Given the description of an element on the screen output the (x, y) to click on. 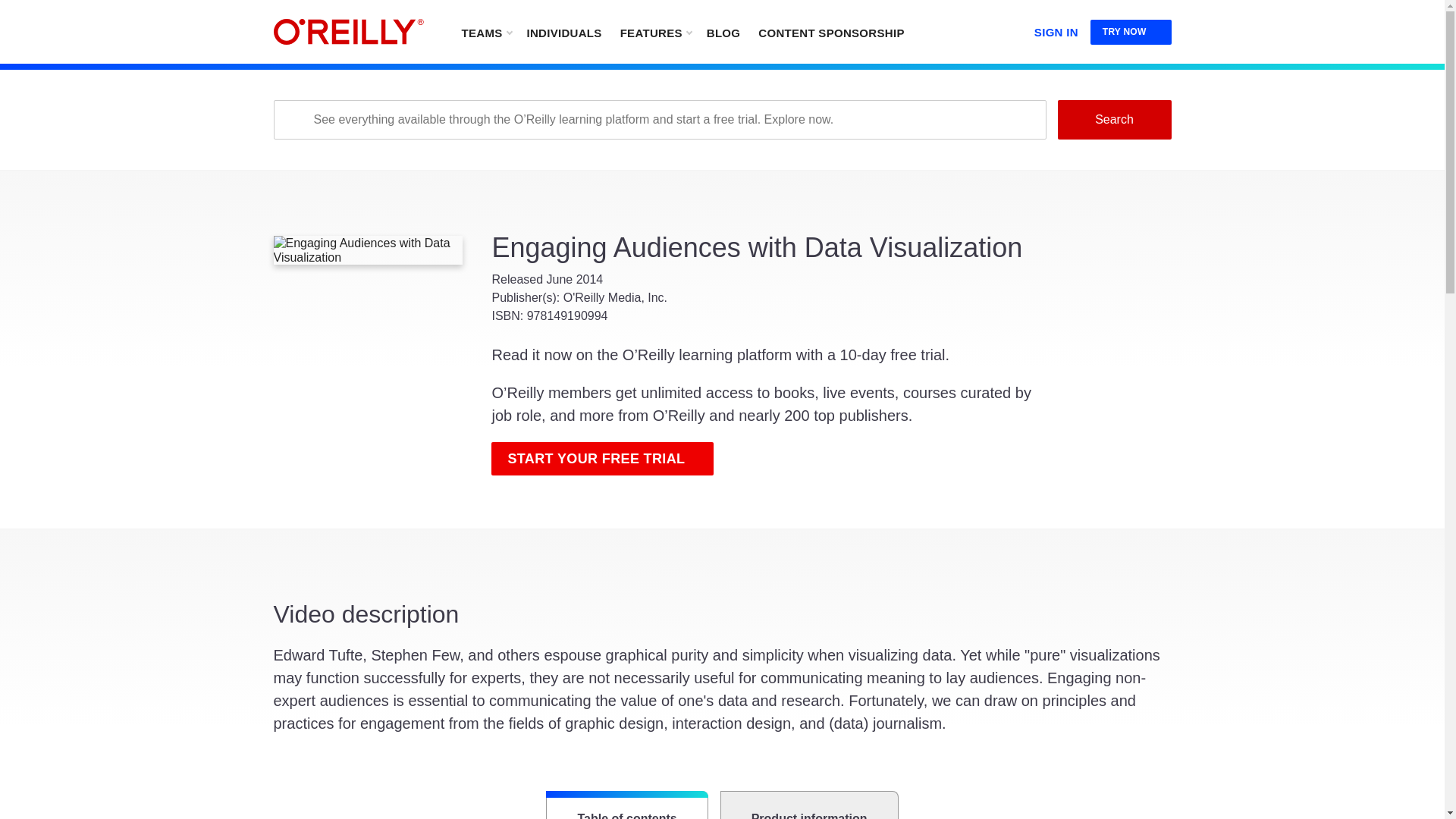
Search (1113, 119)
TRY NOW (1131, 32)
INDIVIDUALS (563, 31)
CONTENT SPONSORSHIP (831, 31)
Table of contents (626, 805)
SIGN IN (1055, 29)
TEAMS (486, 31)
FEATURES (655, 31)
START YOUR FREE TRIAL (602, 458)
Search (1113, 119)
home page (348, 31)
Product information (809, 805)
BLOG (723, 31)
Search (1113, 119)
